Given the description of an element on the screen output the (x, y) to click on. 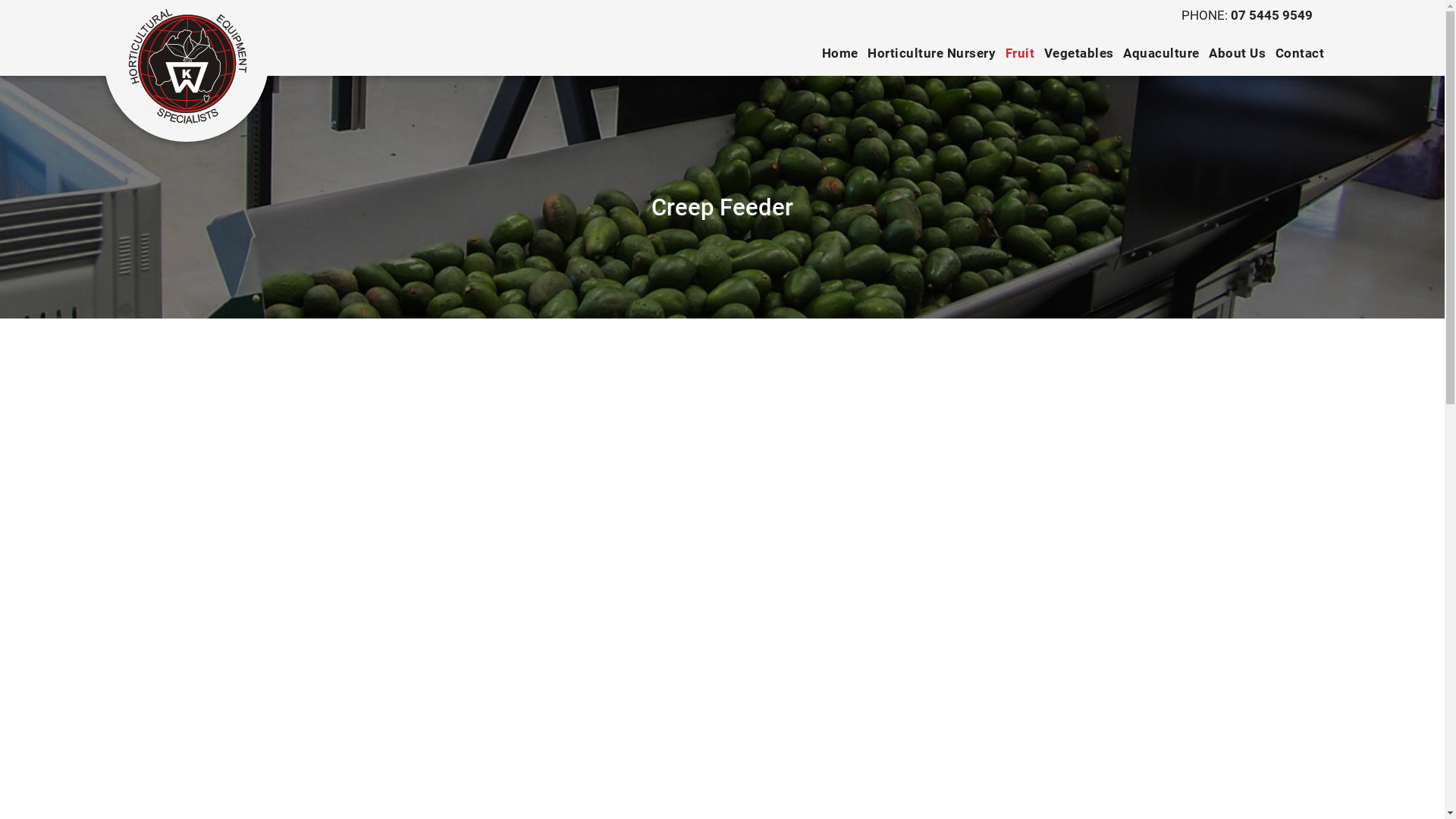
Aquaculture Element type: text (1161, 53)
Fruit Element type: text (1020, 53)
Home Element type: text (840, 53)
Horticulture Nursery Element type: text (931, 53)
Vegetables Element type: text (1078, 53)
About Us Element type: text (1236, 53)
07 5445 9549 Element type: text (1271, 14)
KW Automation Element type: hover (186, 66)
Contact Element type: text (1299, 53)
